Given the description of an element on the screen output the (x, y) to click on. 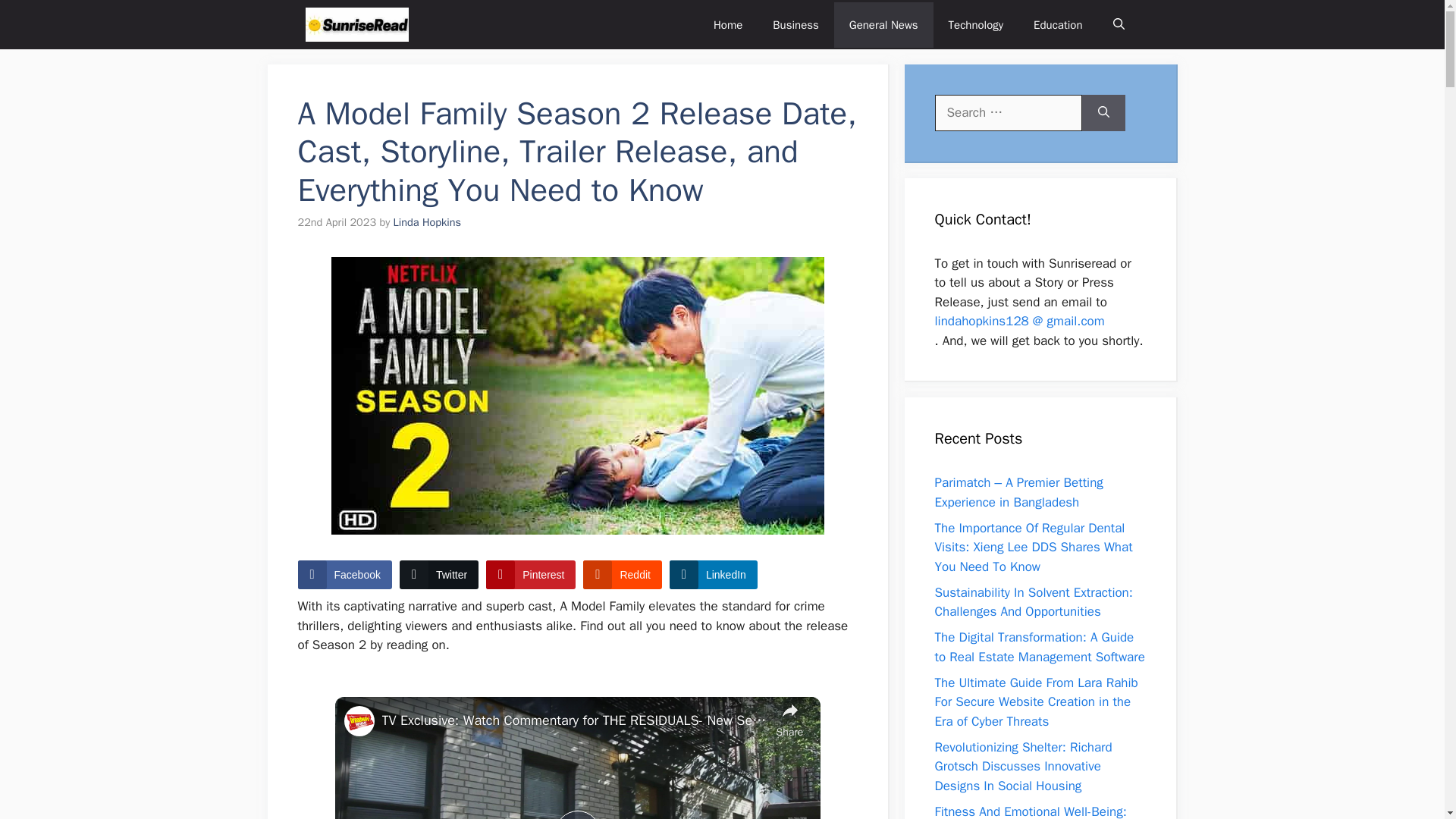
Play Video (576, 814)
Home (727, 23)
View all posts by Linda Hopkins (427, 222)
Facebook (344, 574)
Technology (976, 23)
Play Video (576, 814)
Twitter (438, 574)
Education (1057, 23)
Reddit (622, 574)
LinkedIn (713, 574)
Business (795, 23)
Linda Hopkins (427, 222)
General News (883, 23)
Search for: (1007, 113)
Pinterest (530, 574)
